Given the description of an element on the screen output the (x, y) to click on. 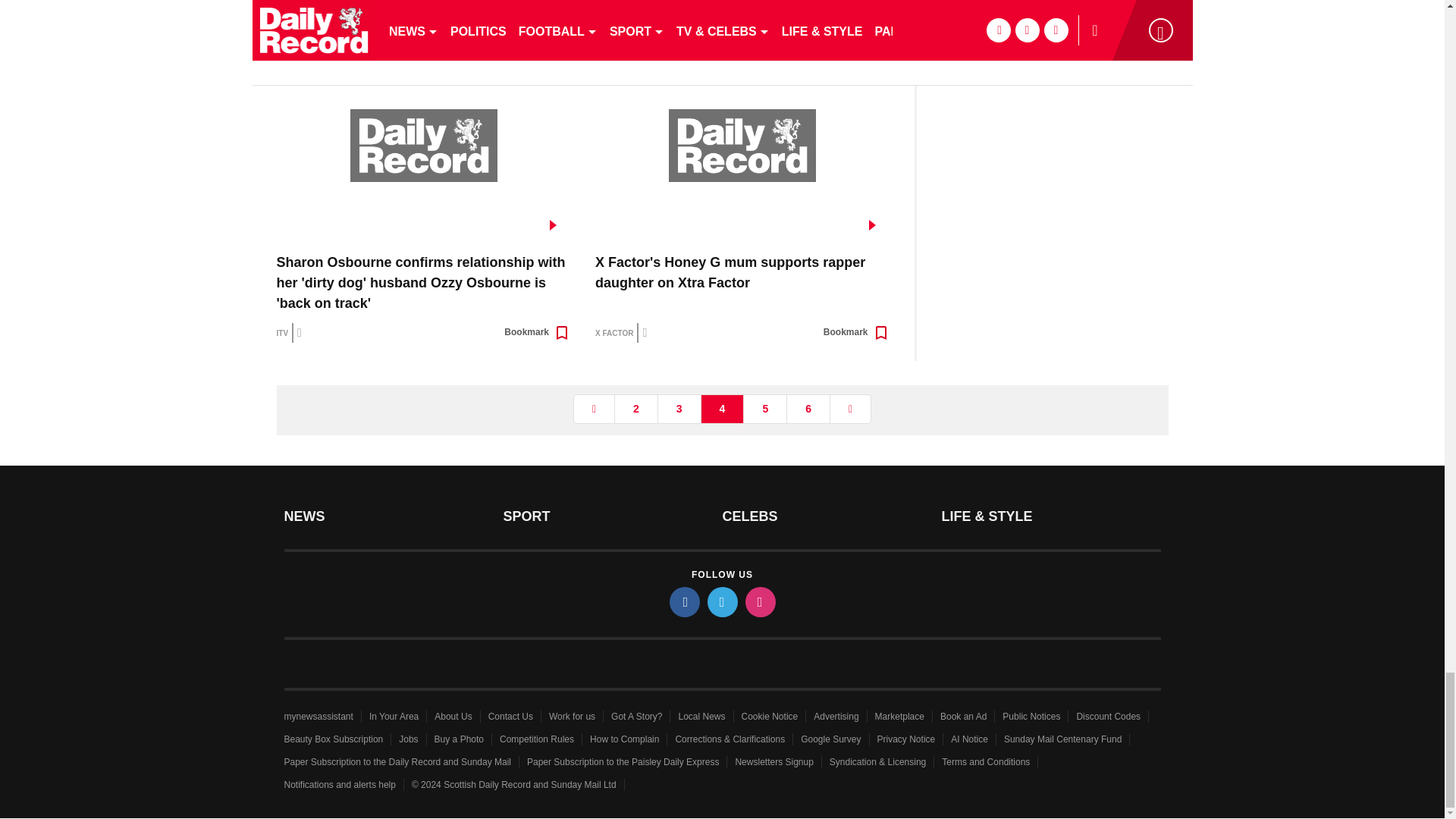
twitter (721, 602)
facebook (683, 602)
instagram (759, 602)
